Given the description of an element on the screen output the (x, y) to click on. 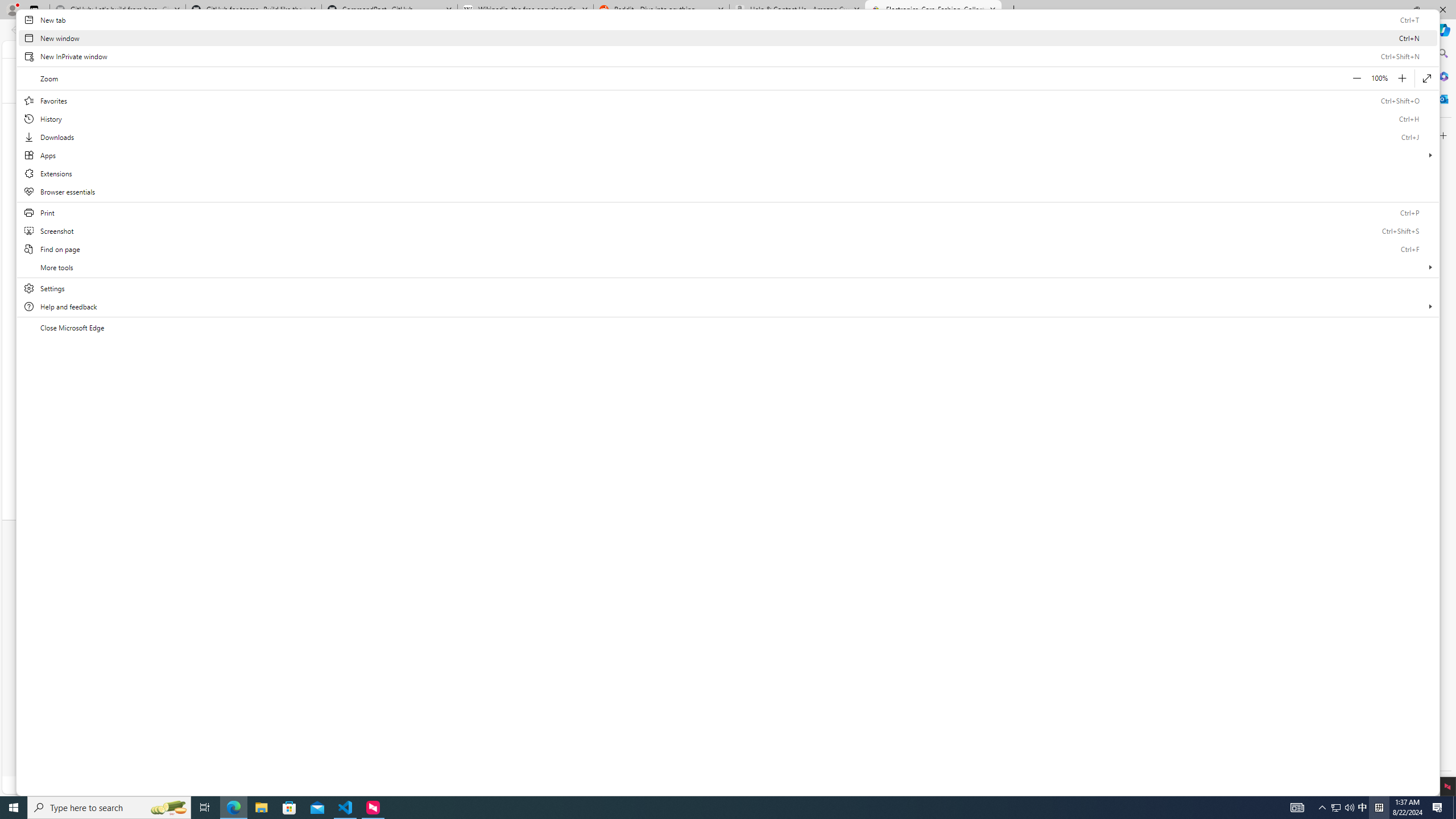
My eBayExpand My eBay (985, 49)
eBay Giving Works (1015, 652)
Company info (858, 573)
Discussion boards (1015, 638)
